Given the description of an element on the screen output the (x, y) to click on. 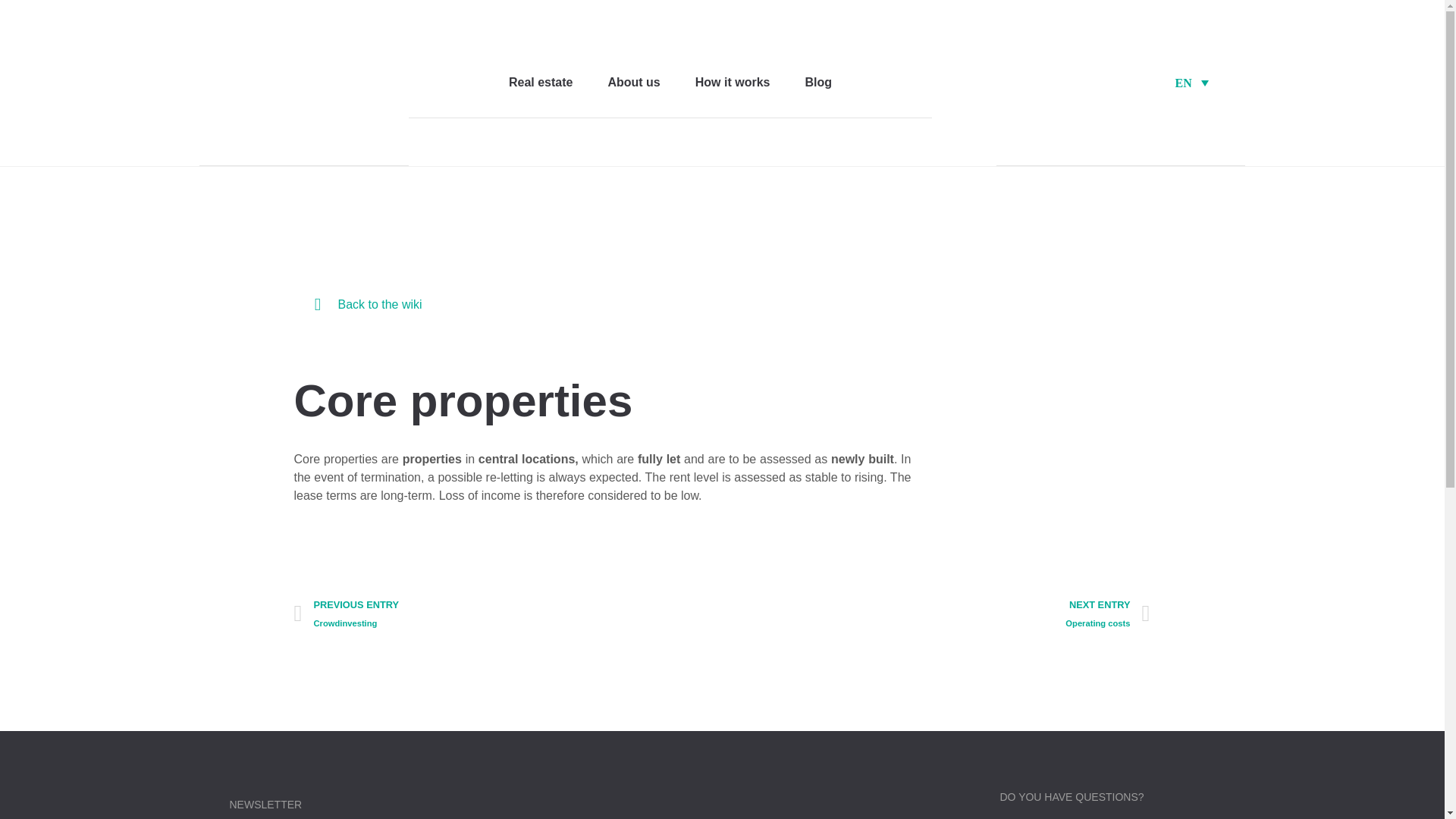
How it works (732, 82)
About us (633, 82)
Real estate (540, 82)
EN (1192, 82)
